Given the description of an element on the screen output the (x, y) to click on. 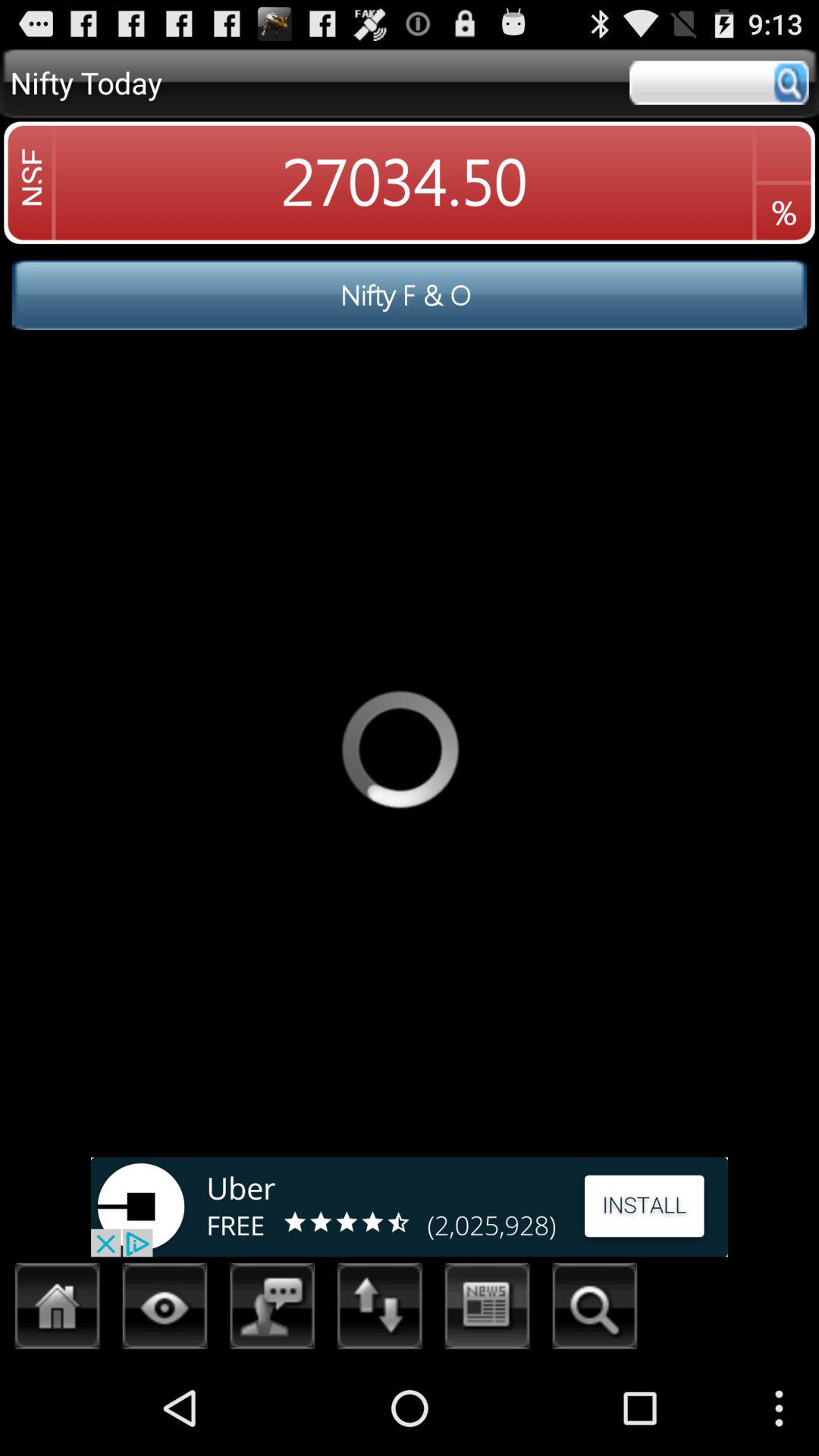
close the add (409, 1206)
